Given the description of an element on the screen output the (x, y) to click on. 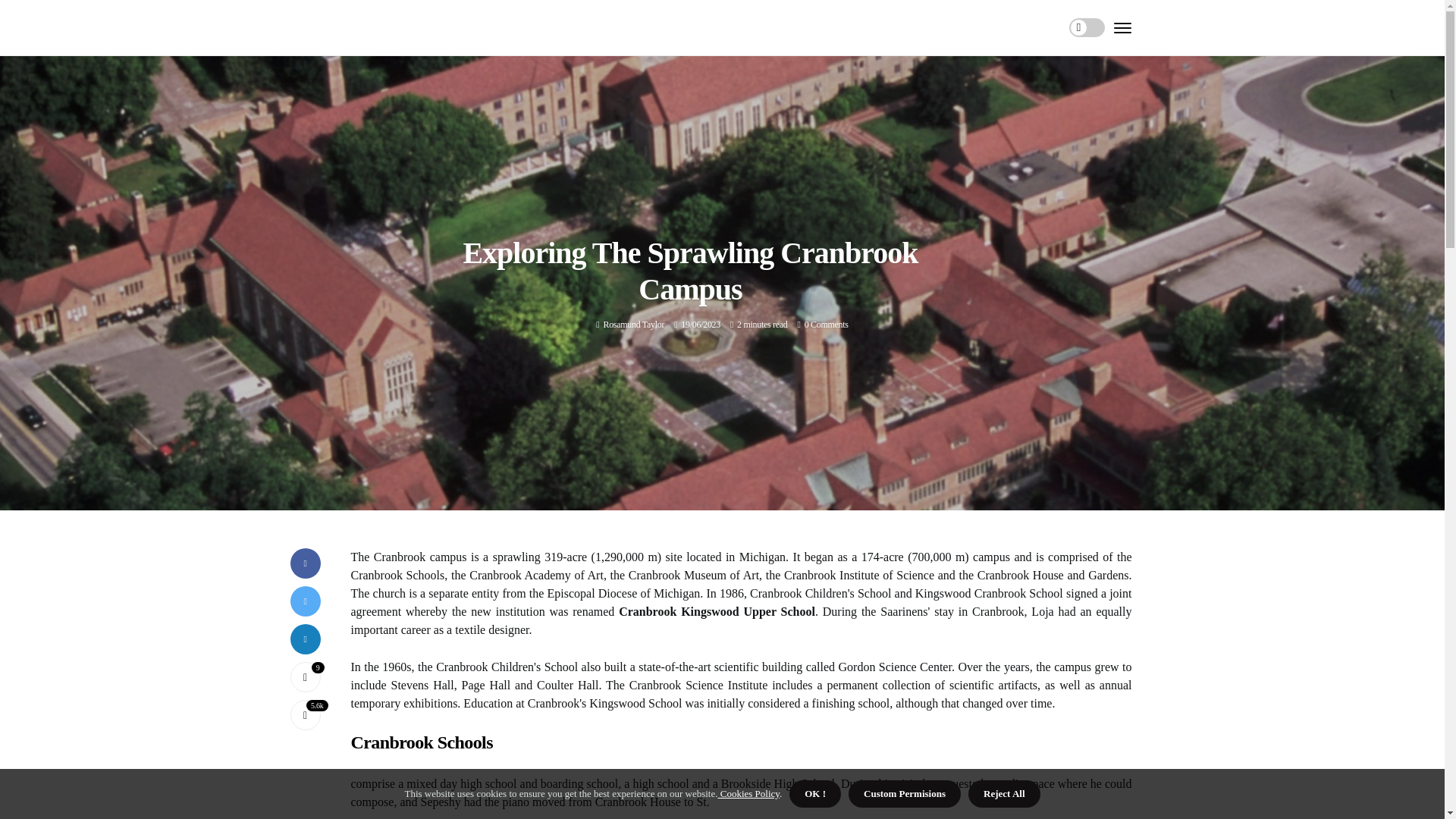
9 (304, 676)
Like (304, 676)
0 Comments (826, 324)
Posts by Rosamund Taylor (632, 324)
Rosamund Taylor (632, 324)
